Given the description of an element on the screen output the (x, y) to click on. 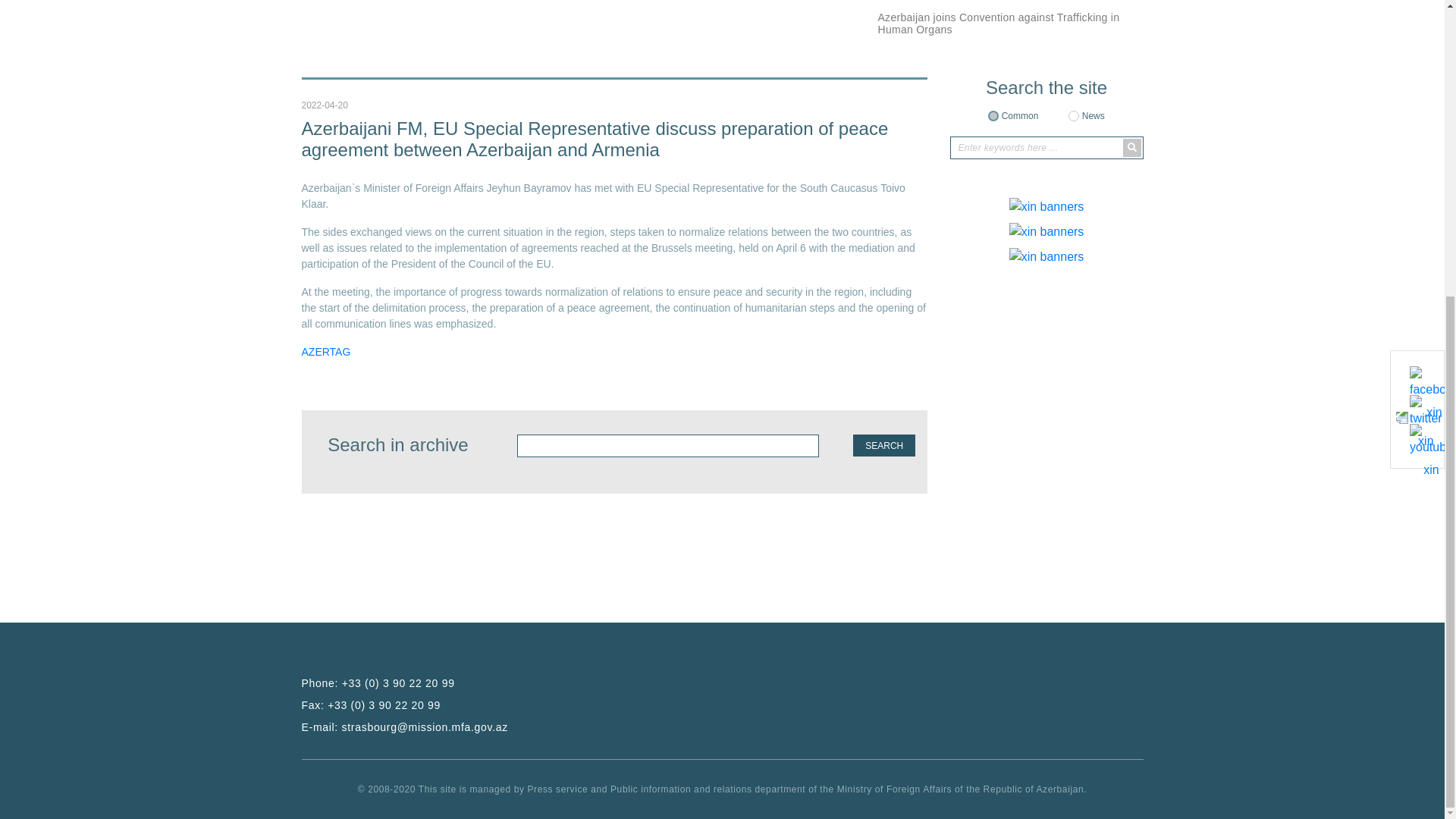
AZERBAIJAN-COUNCIL OF EUROPE Element type: text (864, 134)
EN Element type: text (1132, 111)
AZERTAG Element type: text (326, 808)
AZ Element type: text (1109, 111)
ABOUT AZERBAIJAN Element type: text (502, 134)
CONTACTS Element type: text (1070, 134)
MISSION Element type: text (664, 134)
